Given the description of an element on the screen output the (x, y) to click on. 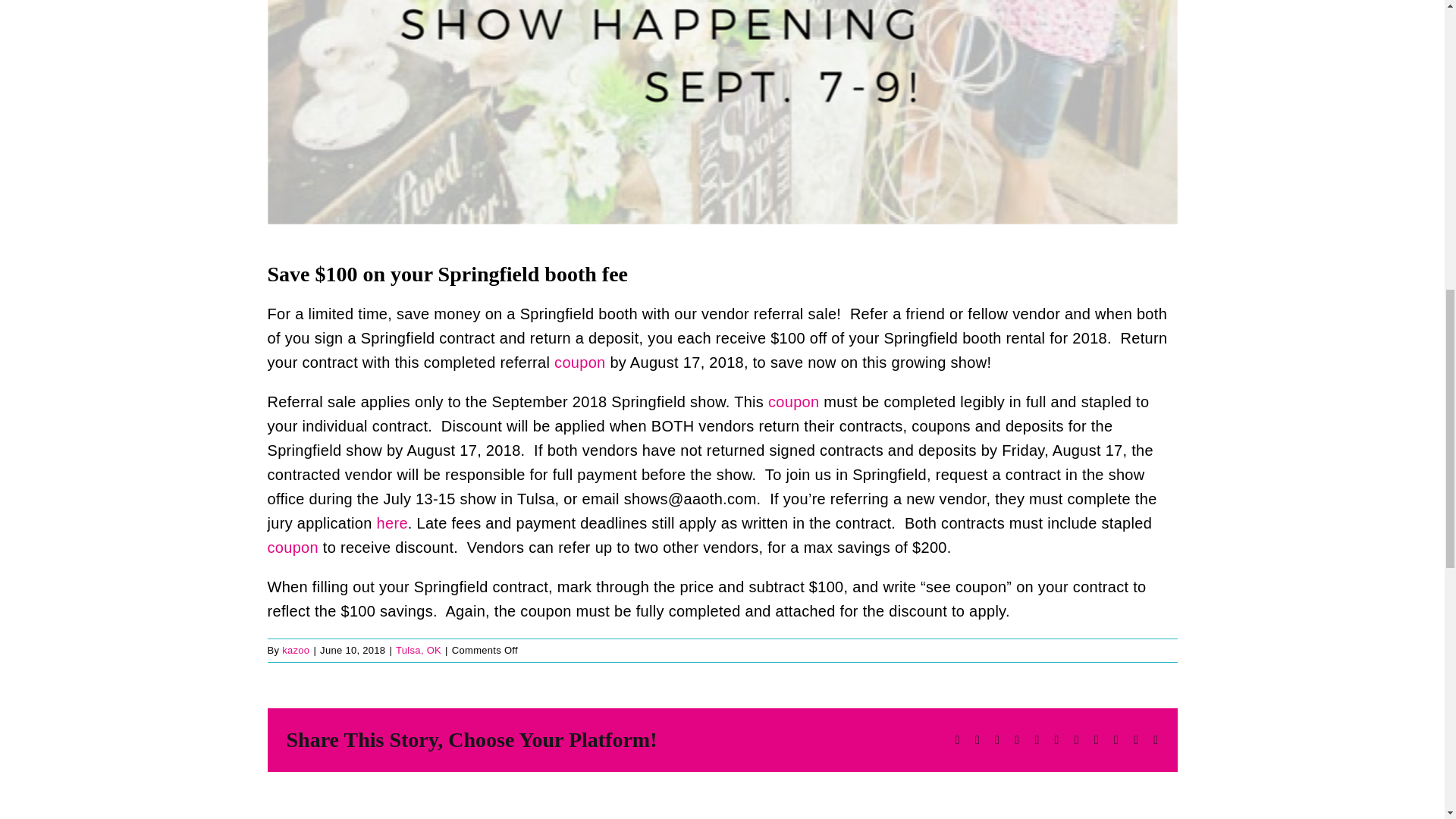
coupon (291, 547)
Tulsa, OK (418, 650)
coupon (579, 362)
Posts by kazoo (295, 650)
here (392, 523)
kazoo (295, 650)
coupon (793, 401)
